Given the description of an element on the screen output the (x, y) to click on. 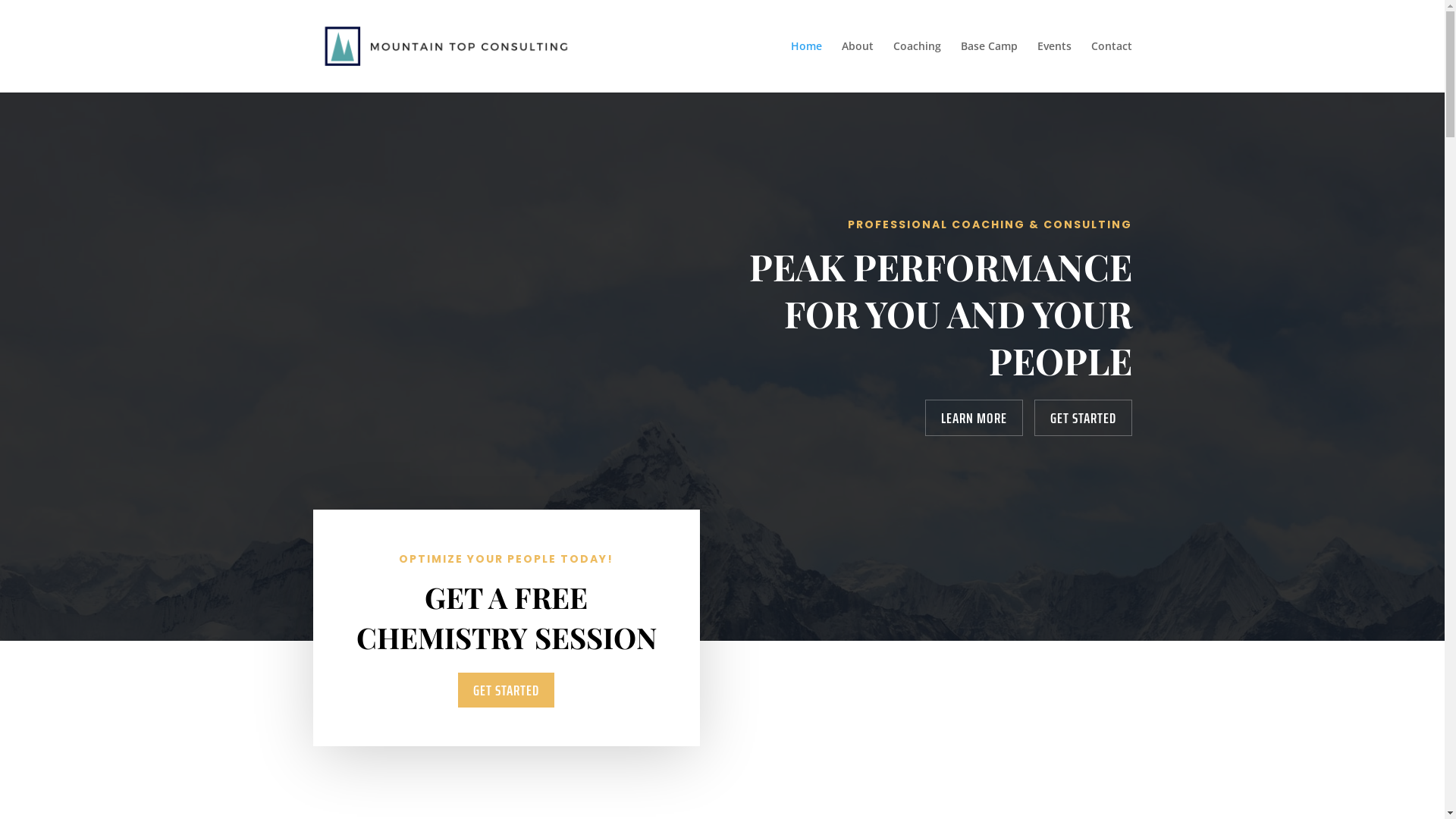
Base Camp Element type: text (988, 66)
Coaching Element type: text (917, 66)
Contact Element type: text (1110, 66)
Events Element type: text (1054, 66)
GET STARTED Element type: text (506, 689)
LEARN MORE Element type: text (973, 417)
About Element type: text (857, 66)
GET STARTED Element type: text (1083, 417)
Home Element type: text (805, 66)
